Given the description of an element on the screen output the (x, y) to click on. 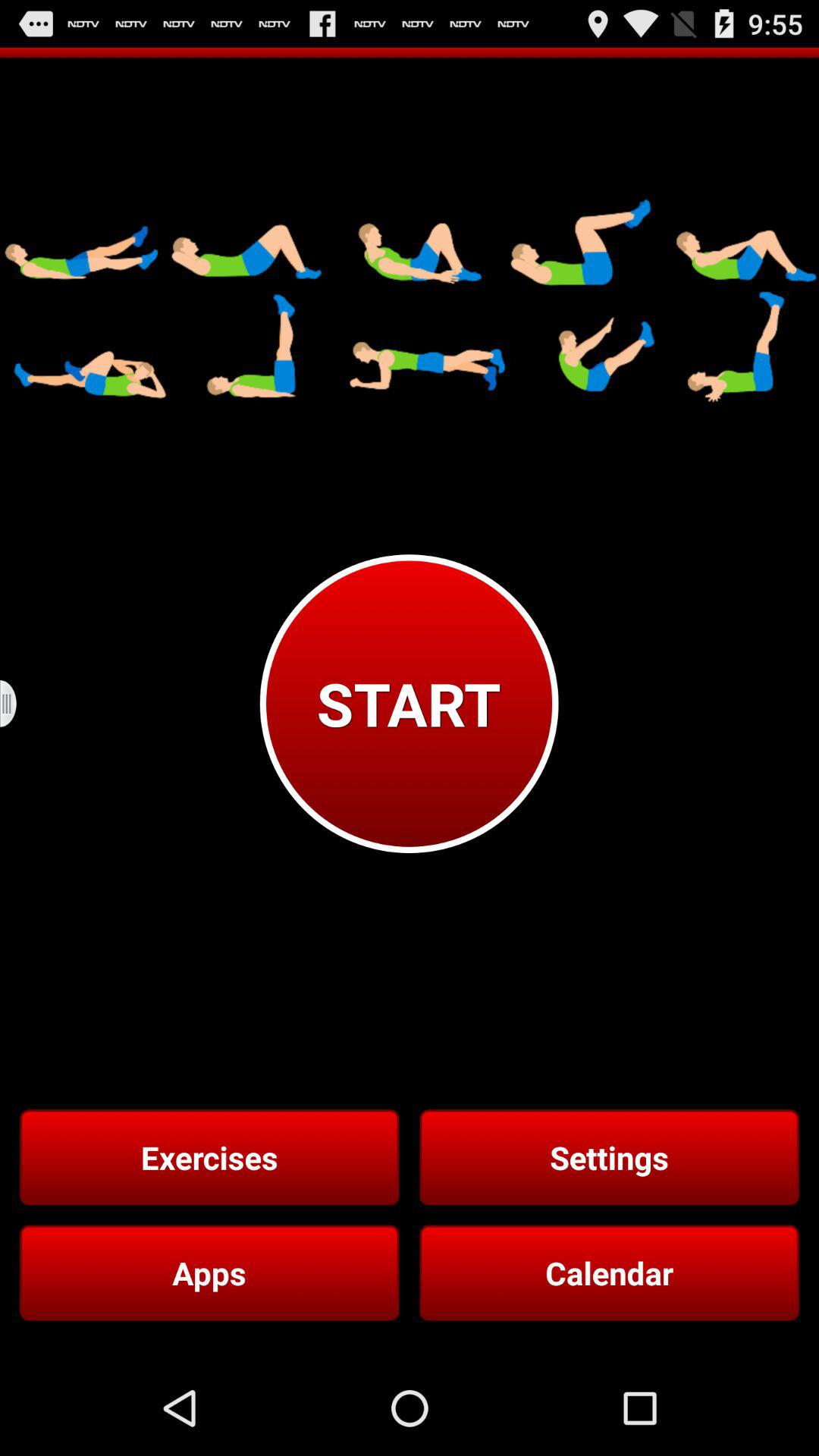
launch the apps item (209, 1272)
